Given the description of an element on the screen output the (x, y) to click on. 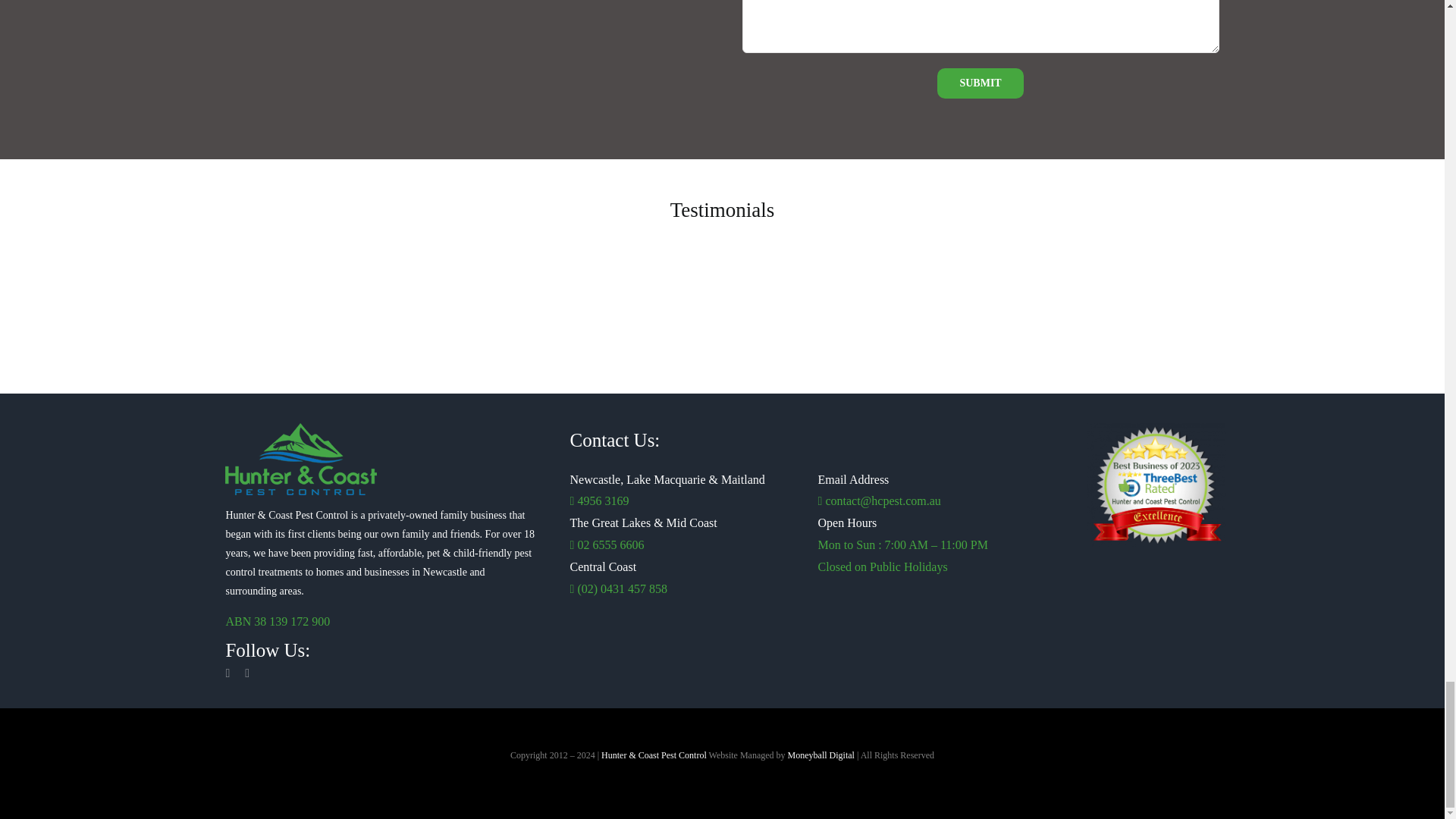
SUBMIT (980, 82)
